Given the description of an element on the screen output the (x, y) to click on. 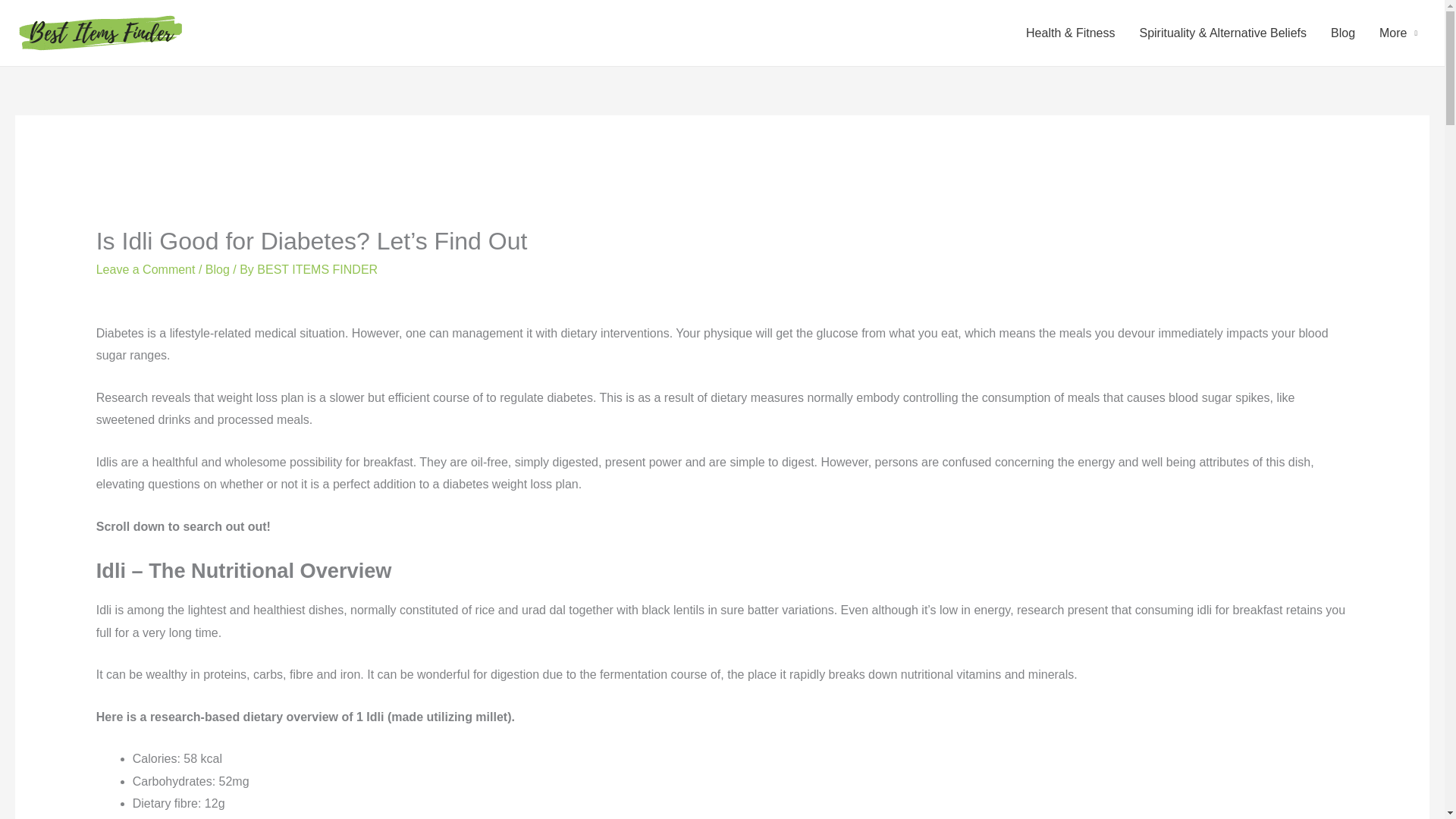
View all posts by BEST ITEMS FINDER (317, 269)
BEST ITEMS FINDER (317, 269)
More (1398, 33)
Blog (217, 269)
Leave a Comment (145, 269)
Blog (1343, 33)
